Given the description of an element on the screen output the (x, y) to click on. 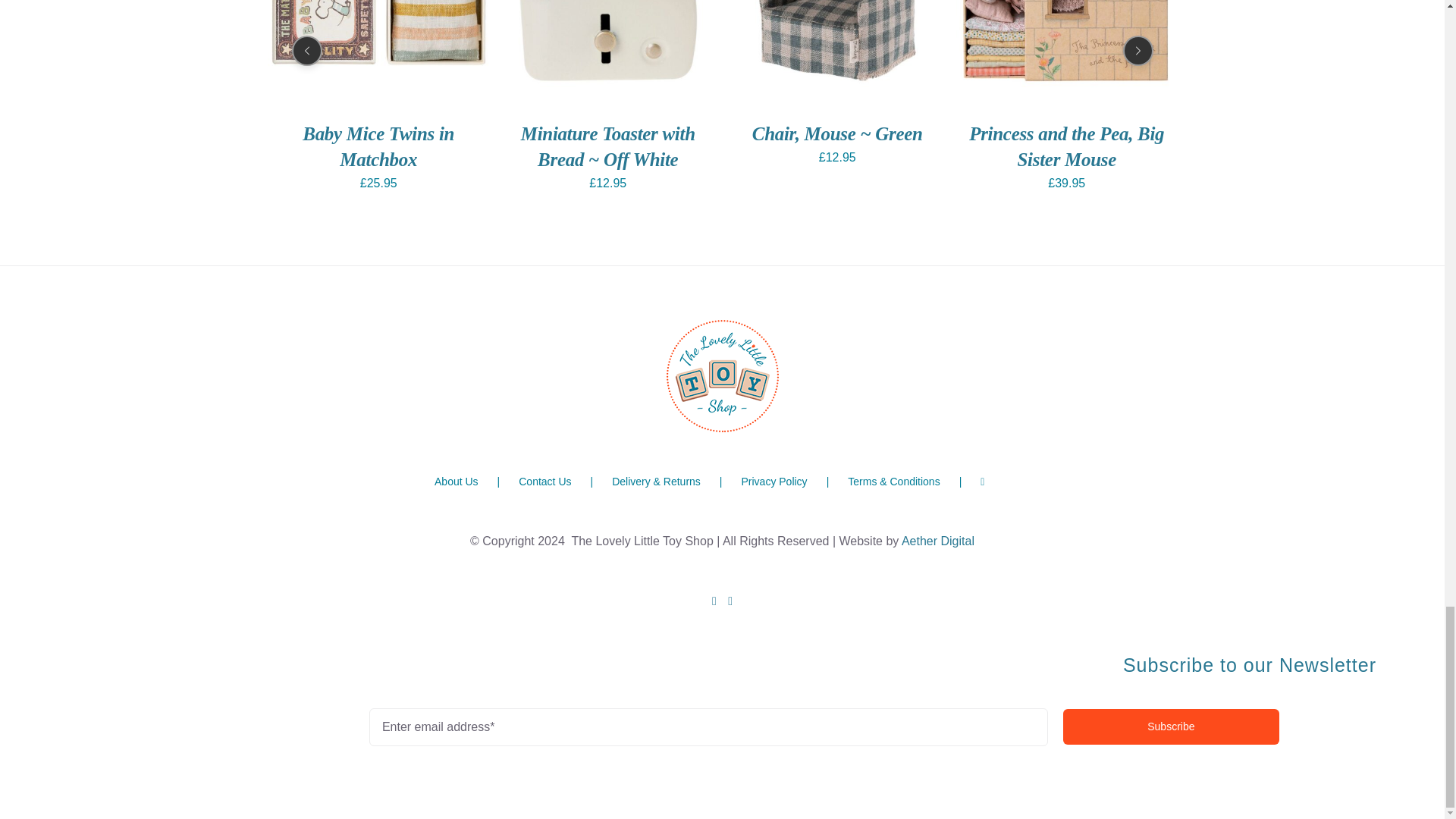
Subscribe (721, 727)
